Given the description of an element on the screen output the (x, y) to click on. 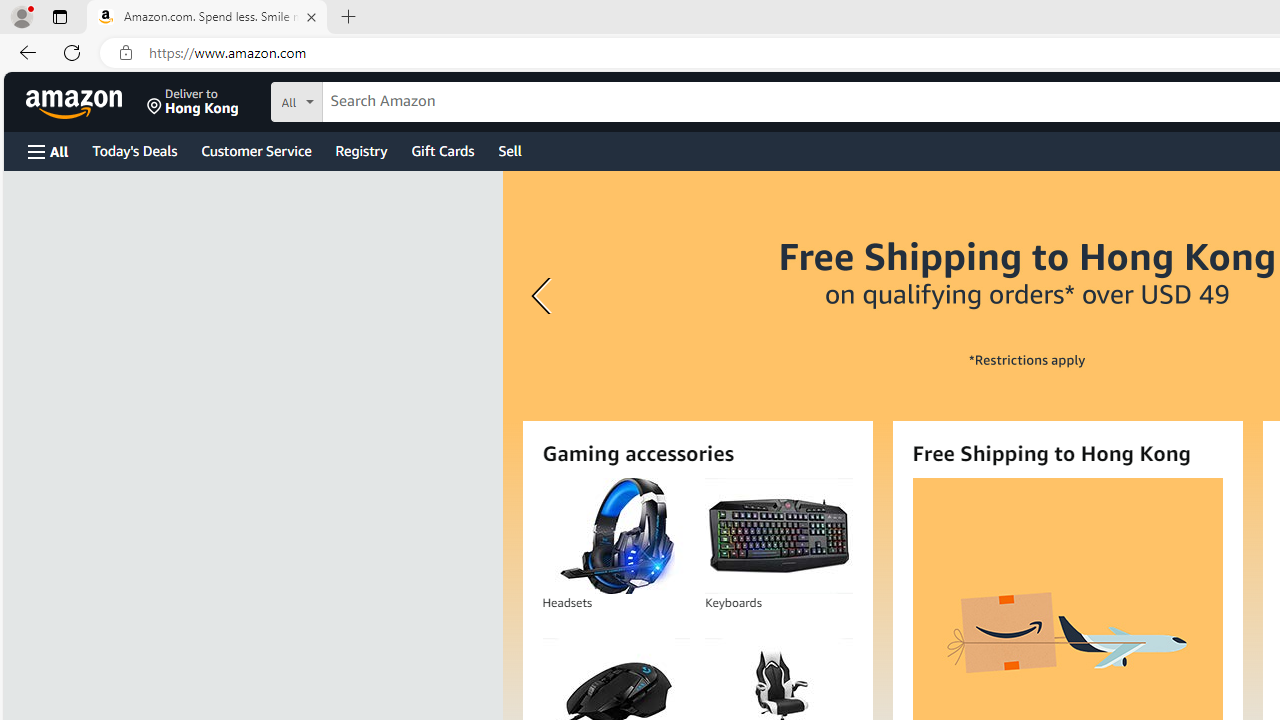
Tab actions (648, 52)
Deliver to Hong Kong (193, 101)
auto.py (483, 52)
Headsets (616, 536)
Go Forward (Alt+RightArrow) (986, 16)
Skip to main content (86, 100)
Previous slide (544, 296)
Registry (360, 150)
View (198, 16)
Explorer actions (208, 52)
Refresh (72, 52)
Testing (24, 299)
Search in (371, 99)
Go Back (Alt+LeftArrow) (960, 16)
Explorer (Ctrl+Shift+E) (24, 58)
